Given the description of an element on the screen output the (x, y) to click on. 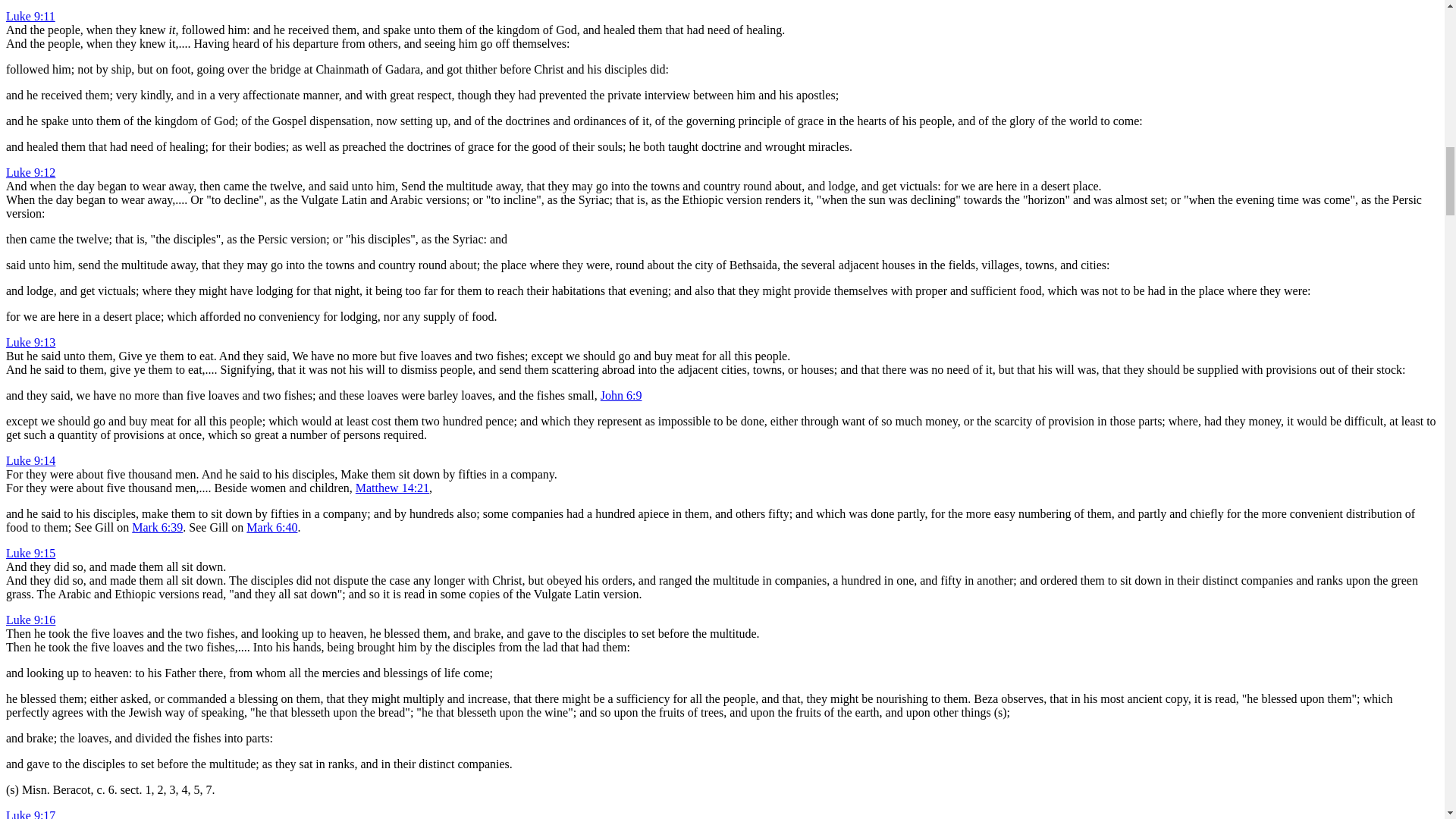
Mark 6:40 (271, 526)
Luke 9:15 (30, 553)
Matthew 14:21 (392, 487)
Luke 9:12 (30, 172)
Luke 9:11 (30, 15)
Luke 9:17 (30, 814)
Luke 9:14 (30, 460)
John 6:9 (620, 395)
Mark 6:39 (157, 526)
Luke 9:13 (30, 341)
